Given the description of an element on the screen output the (x, y) to click on. 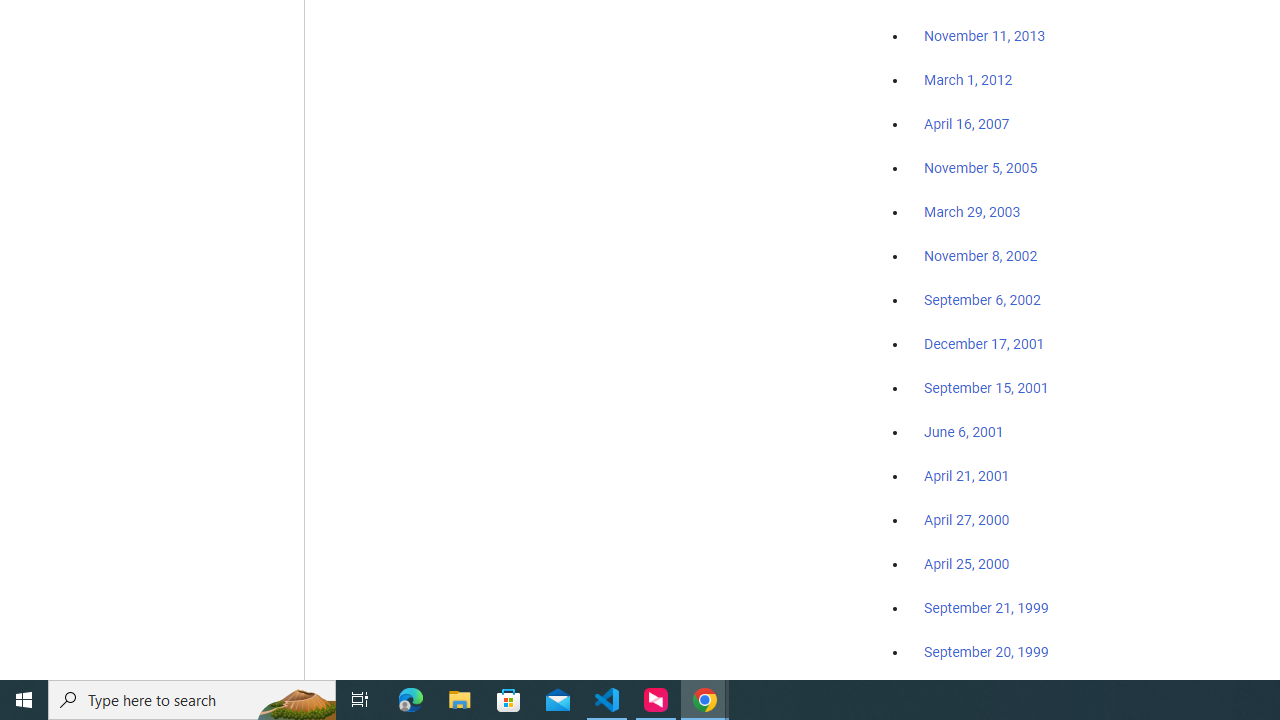
September 15, 2001 (986, 387)
April 25, 2000 (966, 564)
April 27, 2000 (966, 520)
March 29, 2003 (972, 212)
November 11, 2013 (984, 37)
April 21, 2001 (966, 476)
March 1, 2012 (968, 81)
November 8, 2002 (981, 255)
September 20, 1999 (986, 651)
June 6, 2001 (963, 431)
September 6, 2002 (982, 299)
September 21, 1999 (986, 608)
December 17, 2001 (984, 343)
April 16, 2007 (966, 124)
November 5, 2005 (981, 168)
